Given the description of an element on the screen output the (x, y) to click on. 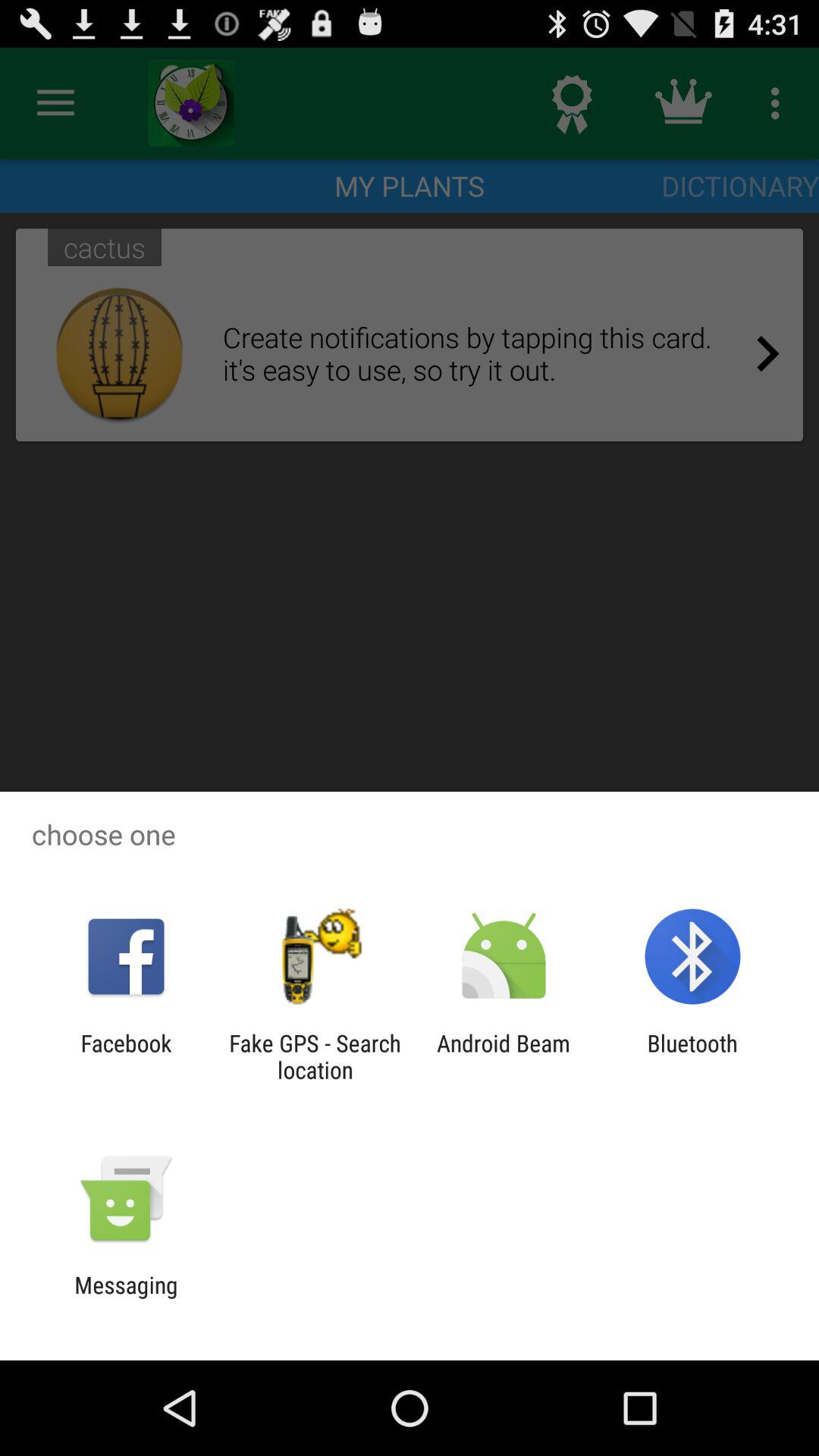
tap the facebook app (125, 1056)
